Given the description of an element on the screen output the (x, y) to click on. 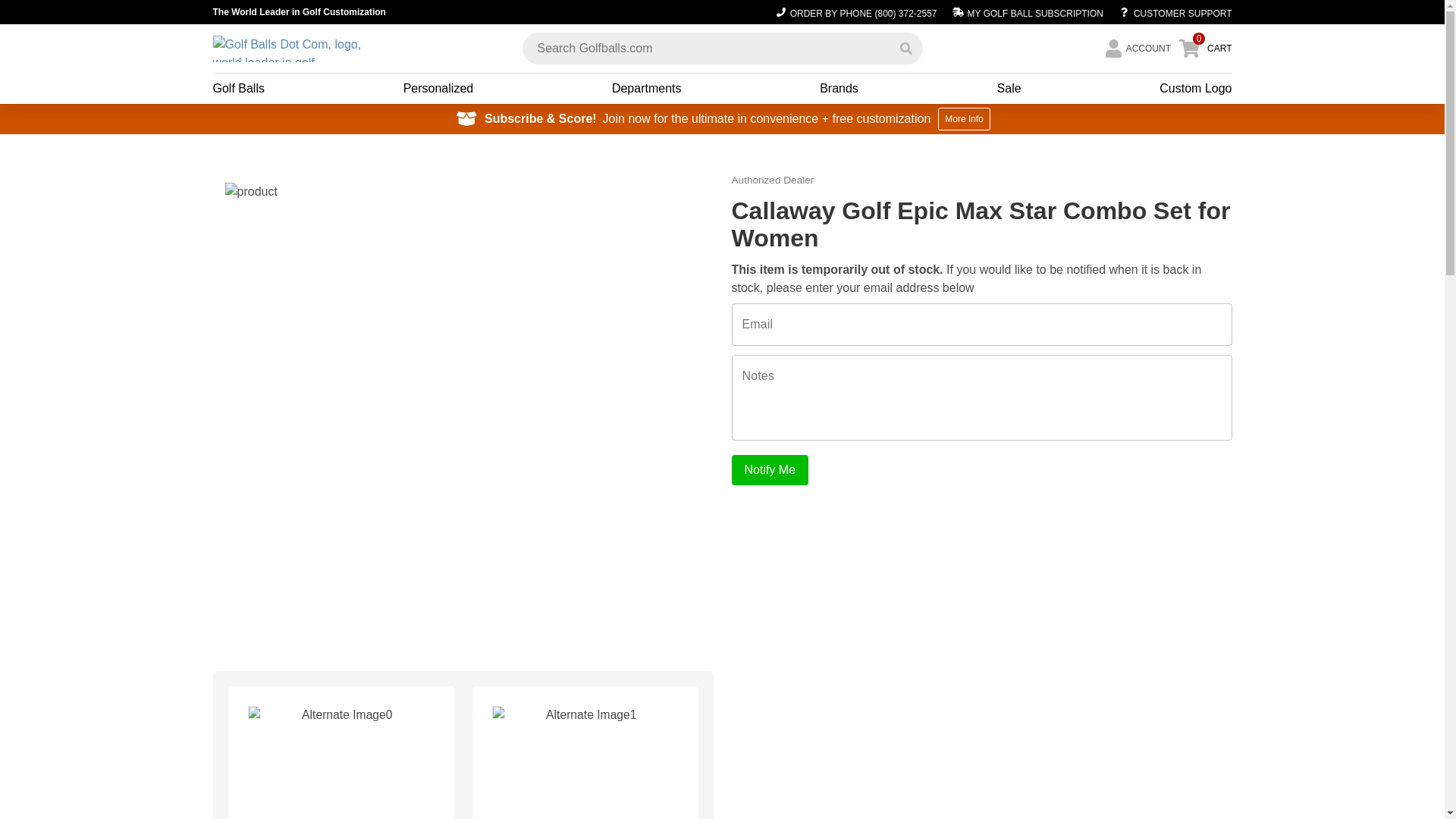
CUSTOMER SUPPORT (1170, 12)
Personalized (438, 88)
More Info (963, 118)
Brands (839, 88)
Notify Me (769, 470)
Sale (1009, 88)
MY GOLF BALL SUBSCRIPTION (1026, 12)
Custom Logo (1194, 88)
Golf Balls (237, 88)
